Given the description of an element on the screen output the (x, y) to click on. 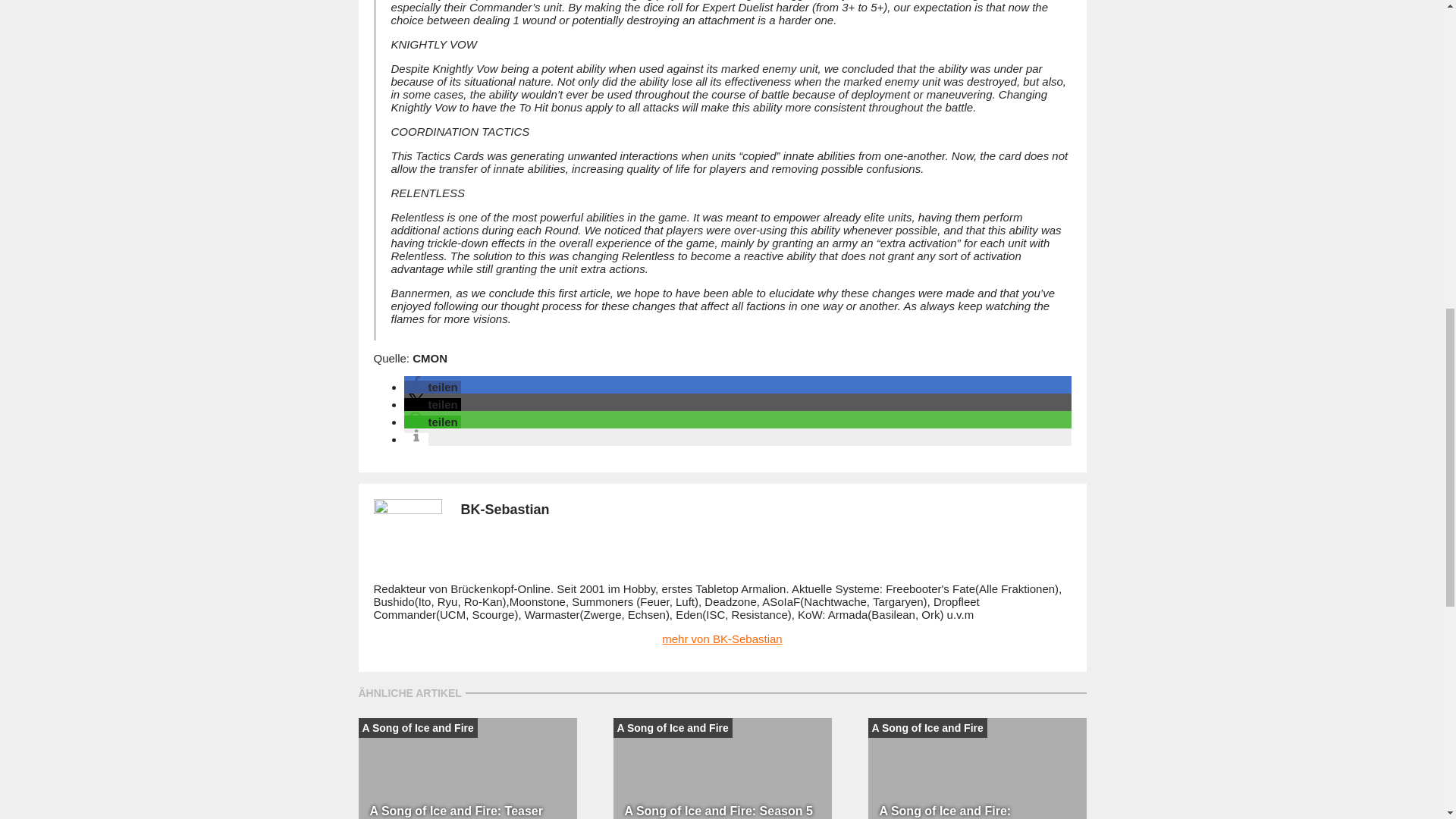
Bei Facebook teilen (431, 386)
Bei X teilen (431, 404)
Weitere Informationen (415, 439)
Bei Whatsapp teilen (431, 421)
